Given the description of an element on the screen output the (x, y) to click on. 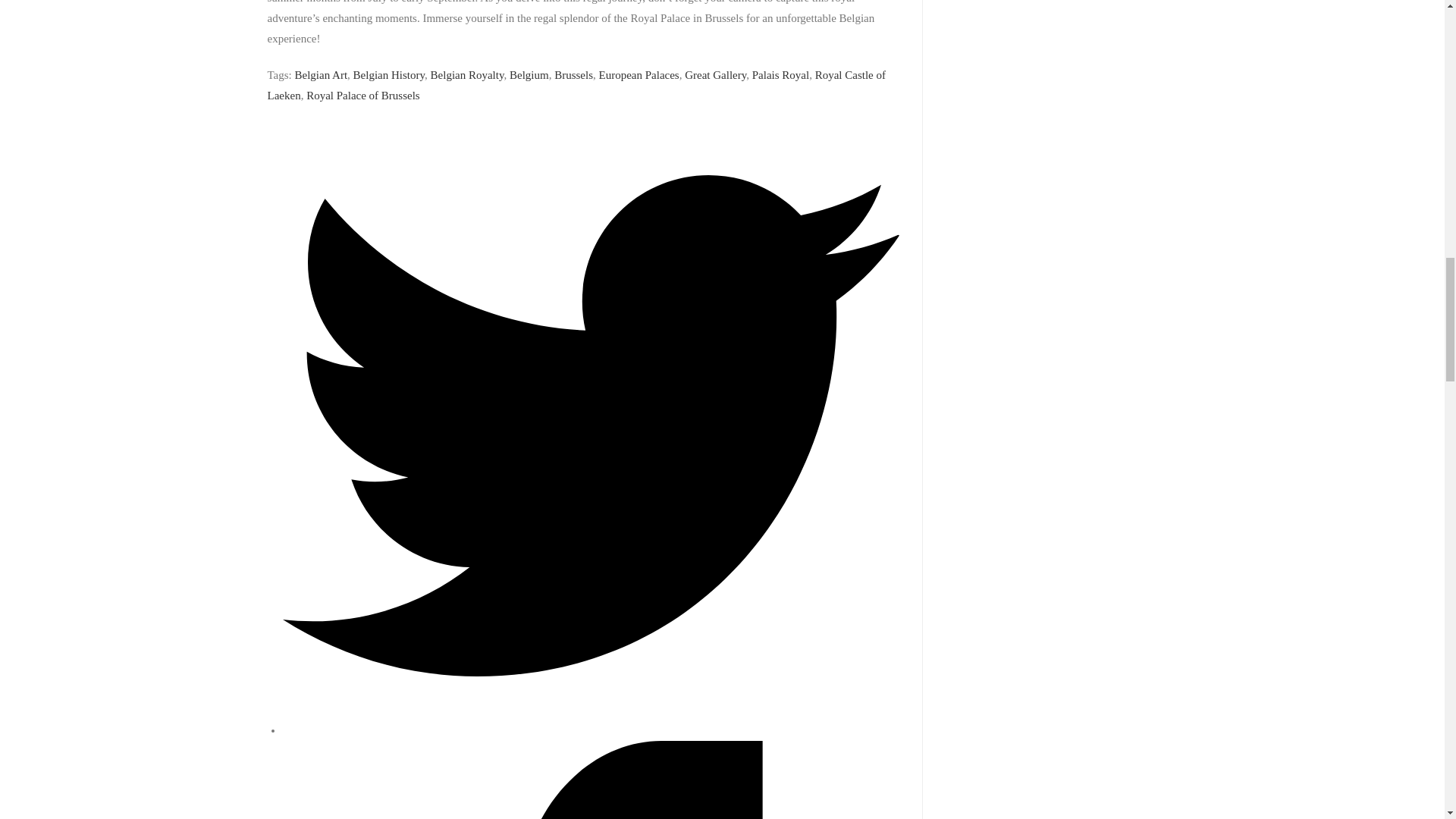
Belgian Royalty (466, 74)
Share on Twitter (590, 729)
Belgian Art (321, 74)
Belgian History (389, 74)
Belgium (528, 74)
Brussels (573, 74)
European Palaces (638, 74)
